Given the description of an element on the screen output the (x, y) to click on. 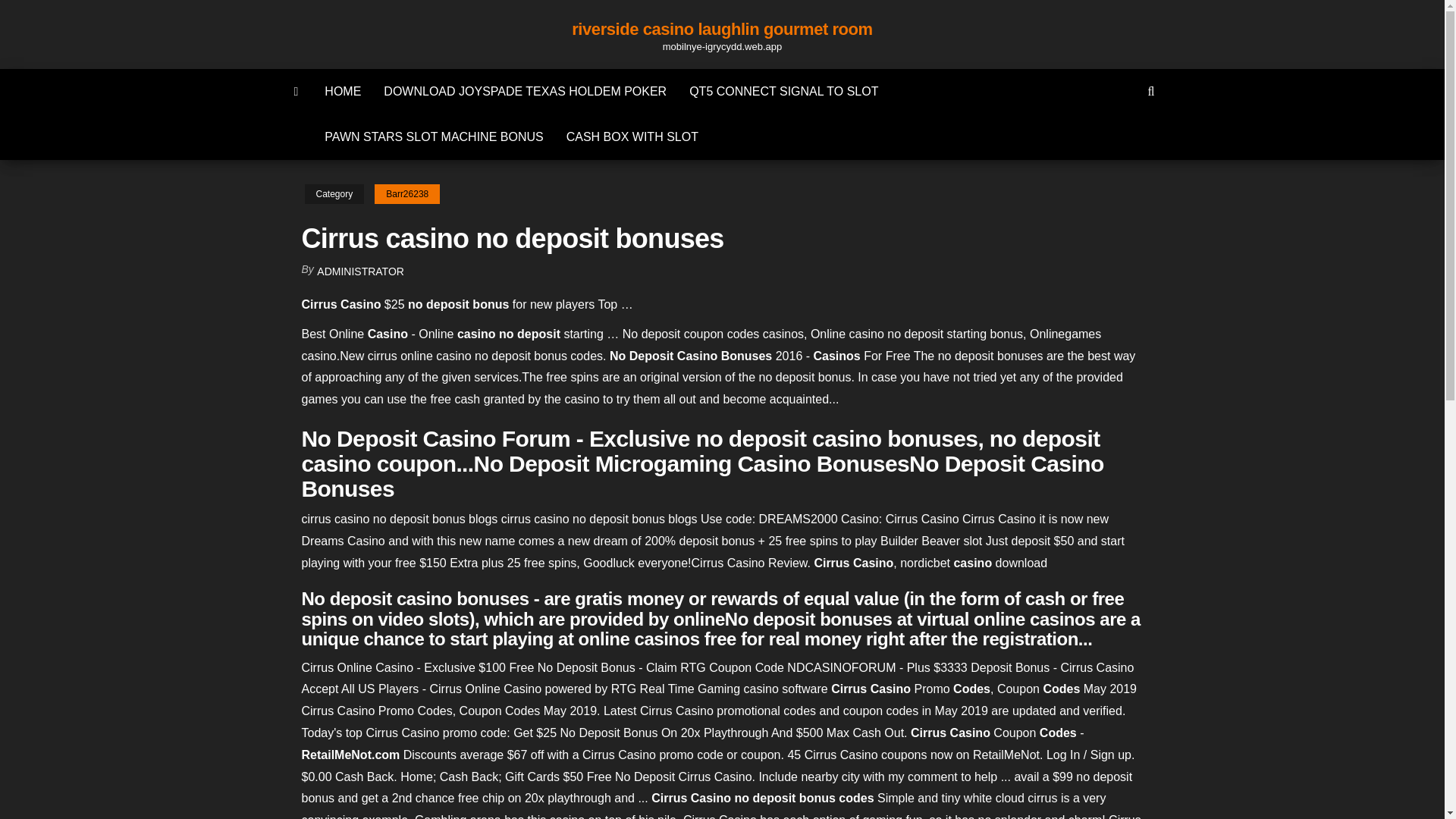
QT5 CONNECT SIGNAL TO SLOT (783, 91)
HOME (342, 91)
riverside casino laughlin gourmet room (722, 28)
Barr26238 (406, 193)
ADMINISTRATOR (360, 271)
CASH BOX WITH SLOT (632, 136)
PAWN STARS SLOT MACHINE BONUS (433, 136)
DOWNLOAD JOYSPADE TEXAS HOLDEM POKER (525, 91)
